Given the description of an element on the screen output the (x, y) to click on. 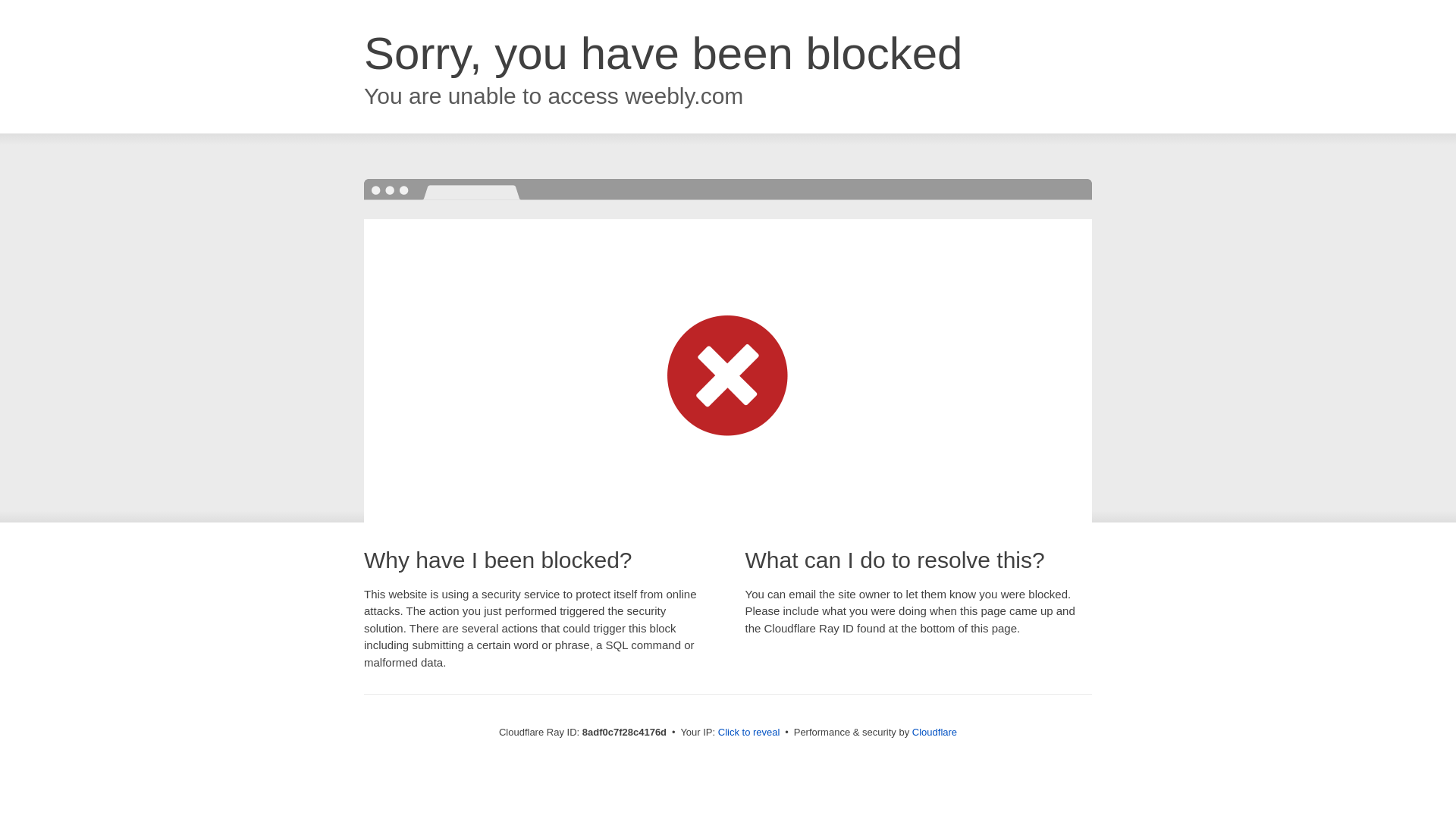
Cloudflare (934, 731)
Click to reveal (748, 732)
